Given the description of an element on the screen output the (x, y) to click on. 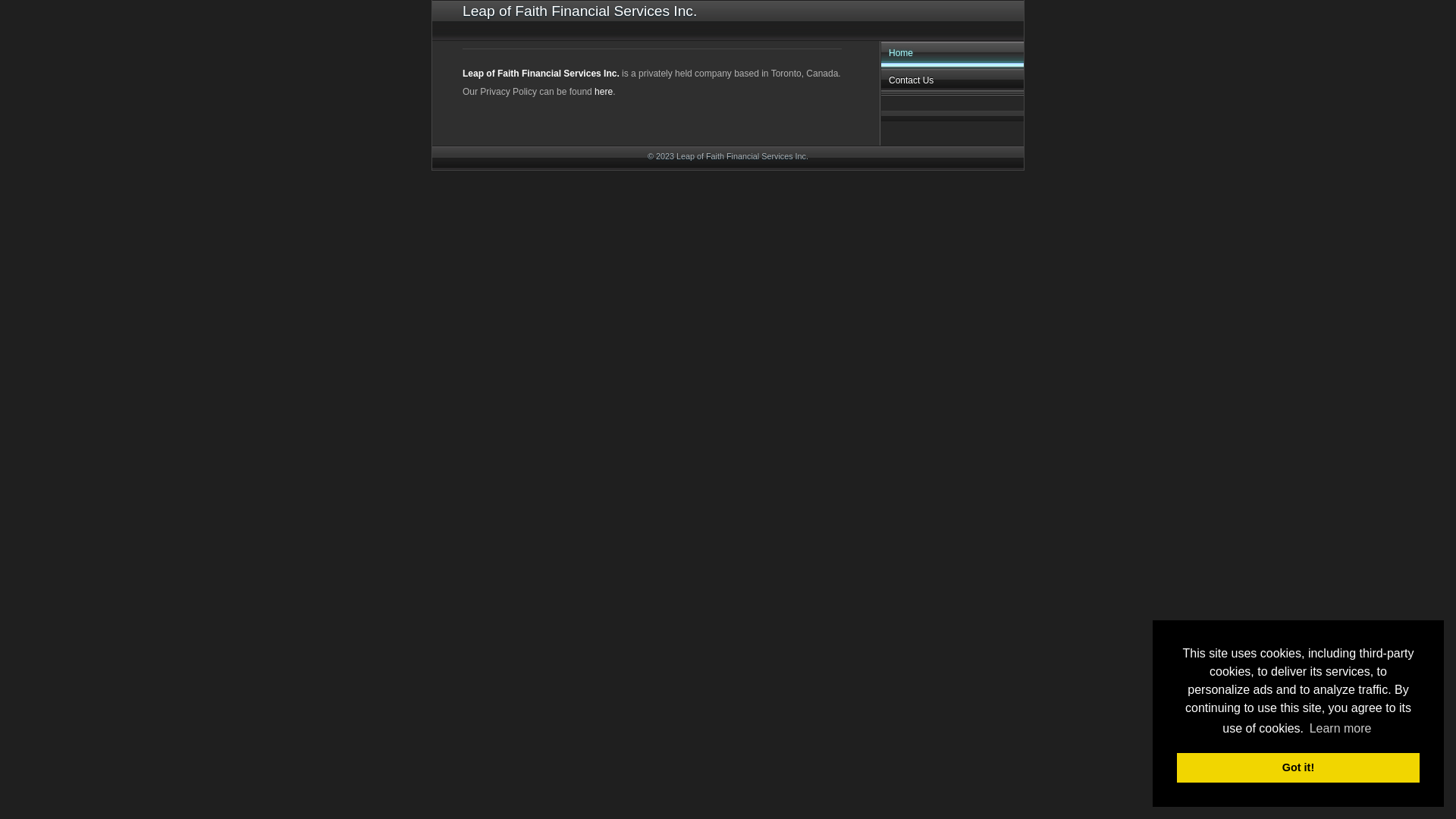
Contact Us Element type: text (952, 81)
Learn more Element type: text (1339, 728)
Leap of Faith Financial Services Inc. Element type: text (540, 73)
Home Element type: text (952, 54)
here Element type: text (603, 91)
Got it! Element type: text (1297, 767)
